Given the description of an element on the screen output the (x, y) to click on. 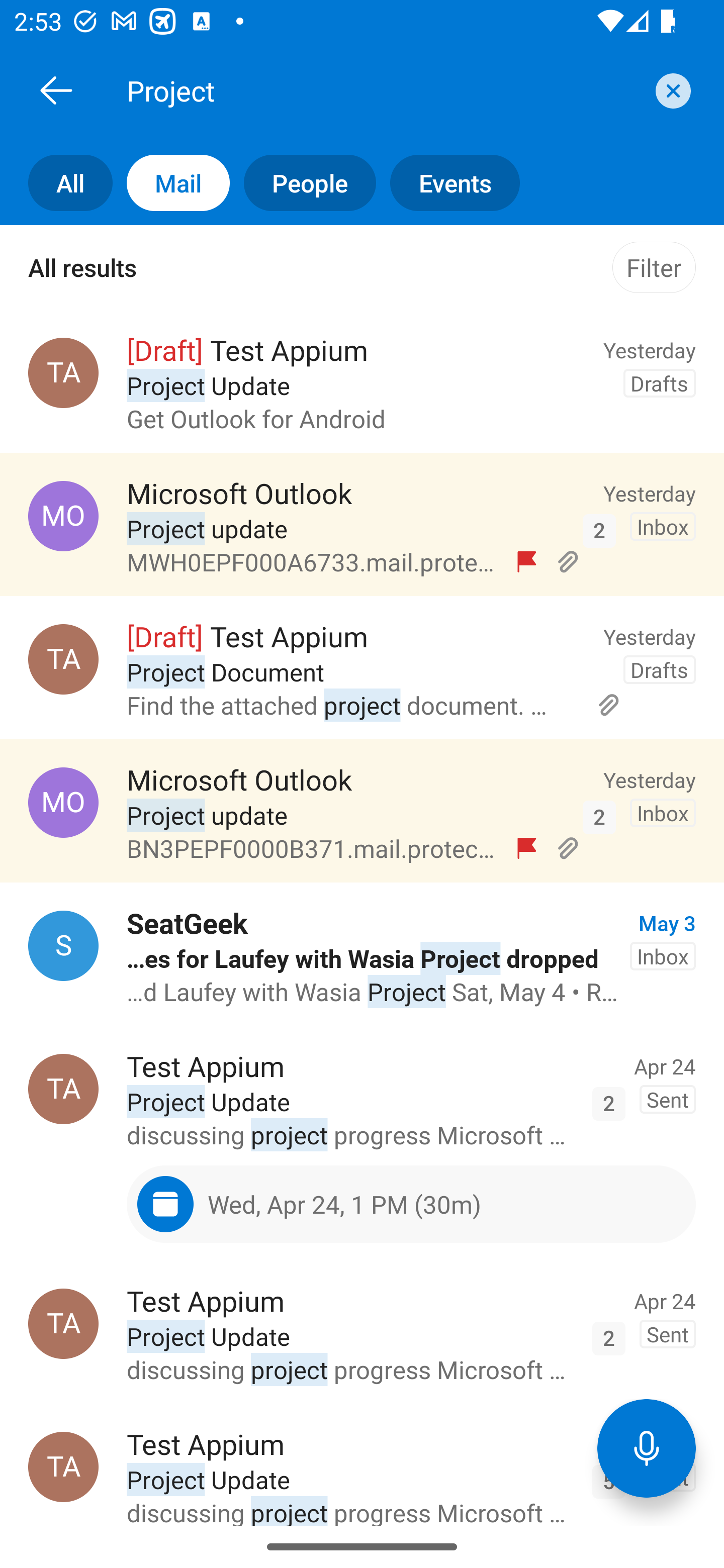
Back (55, 89)
Project (384, 89)
clear search (670, 90)
All (56, 183)
People (302, 183)
Events (447, 183)
Filter (653, 267)
Voice Assistant (646, 1447)
